Given the description of an element on the screen output the (x, y) to click on. 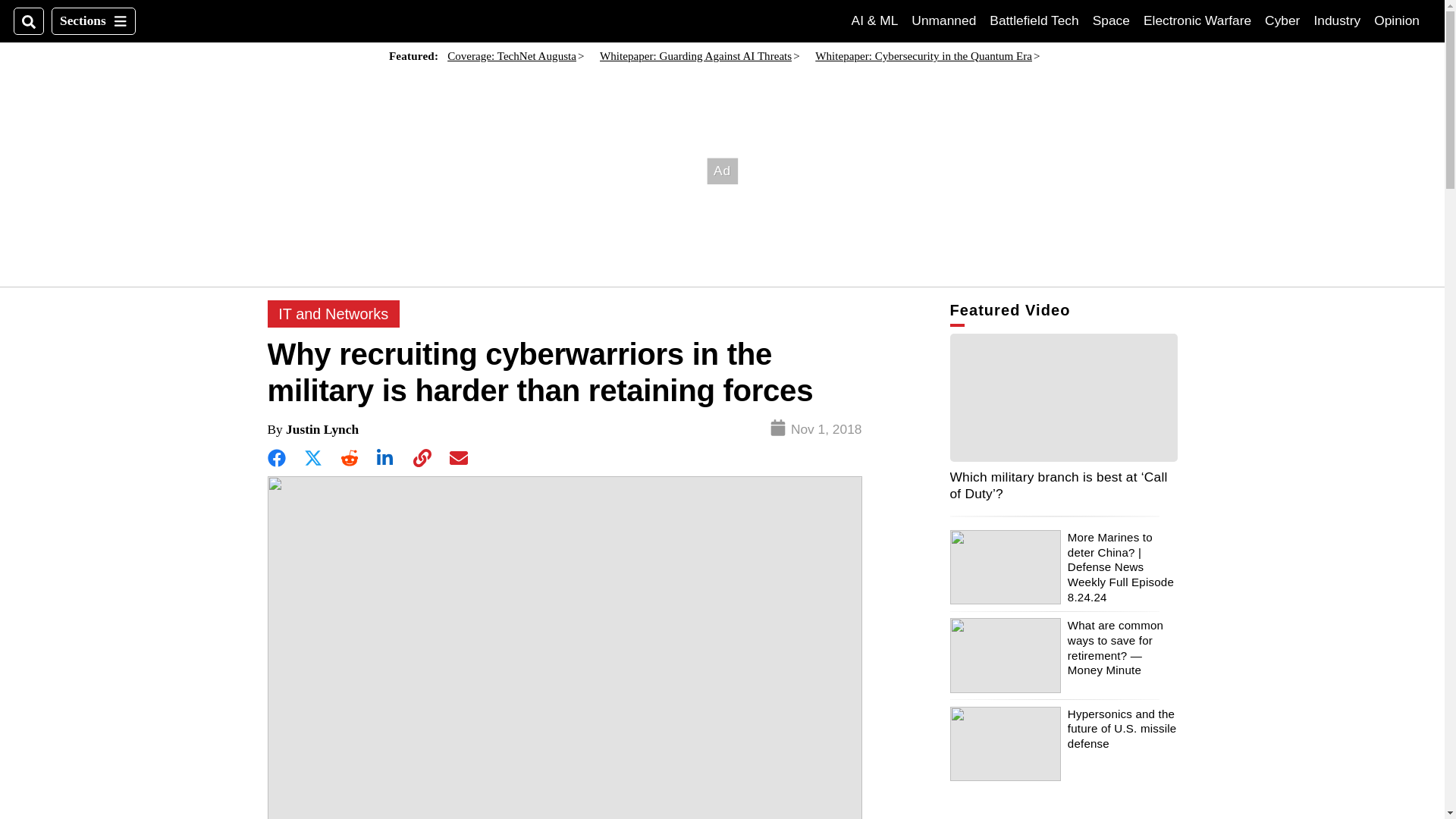
Electronic Warfare (1196, 20)
Coverage: TechNet Augusta (511, 56)
Industry (1336, 20)
Cyber (1282, 20)
Whitepaper: Guarding Against AI Threats (695, 56)
Sections (92, 21)
Unmanned (943, 20)
Battlefield Tech (1034, 20)
Space (1111, 20)
Whitepaper: Cybersecurity in the Quantum Era (923, 56)
